Given the description of an element on the screen output the (x, y) to click on. 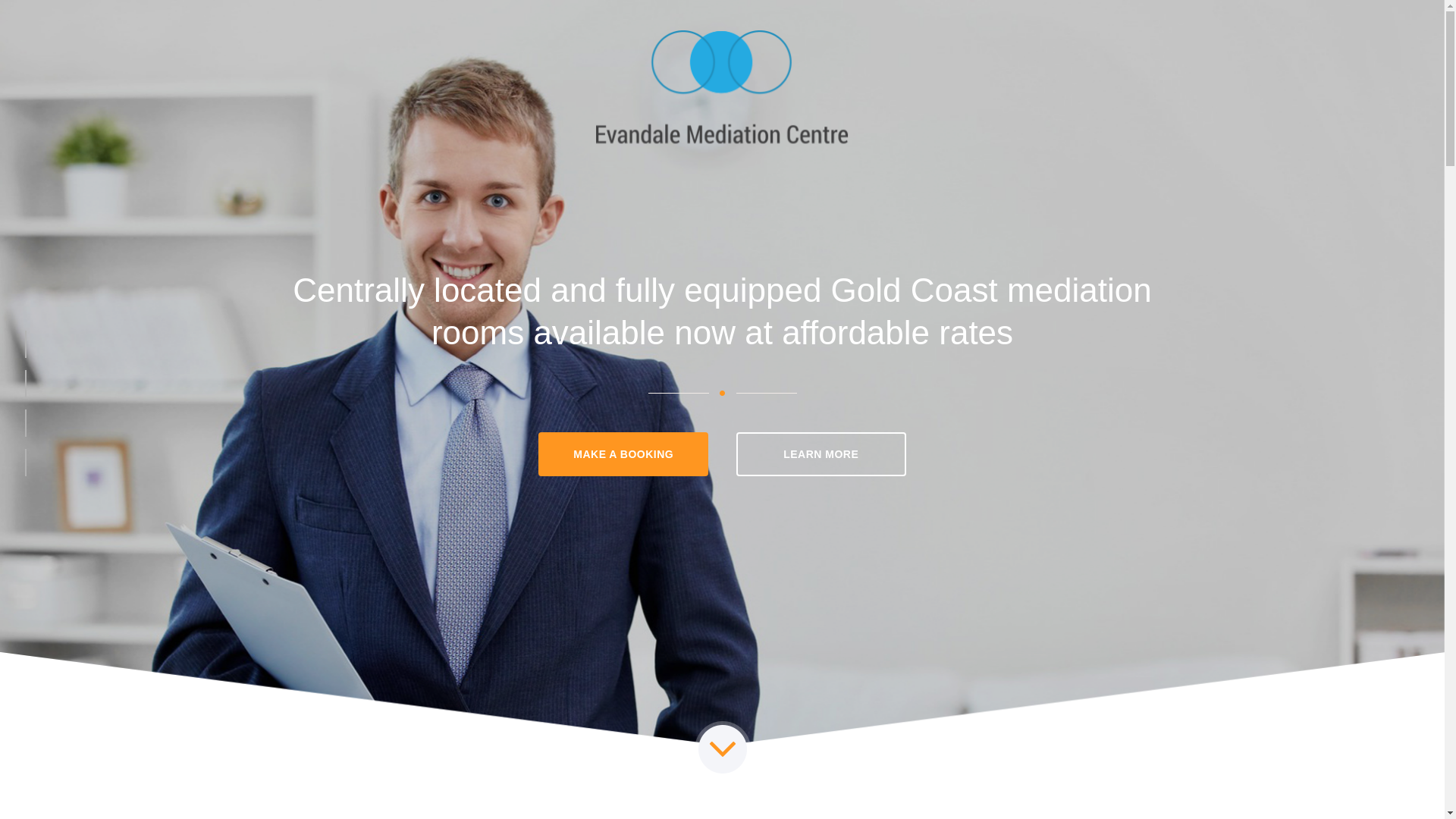
LEARN MORE Element type: text (821, 454)
MAKE A BOOKING Element type: text (623, 454)
